Given the description of an element on the screen output the (x, y) to click on. 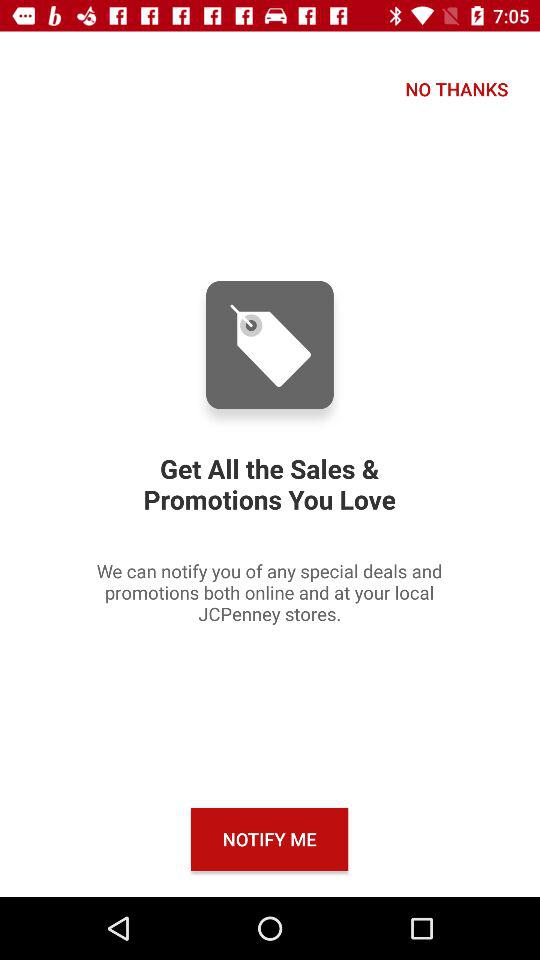
jump until the no thanks icon (456, 88)
